Given the description of an element on the screen output the (x, y) to click on. 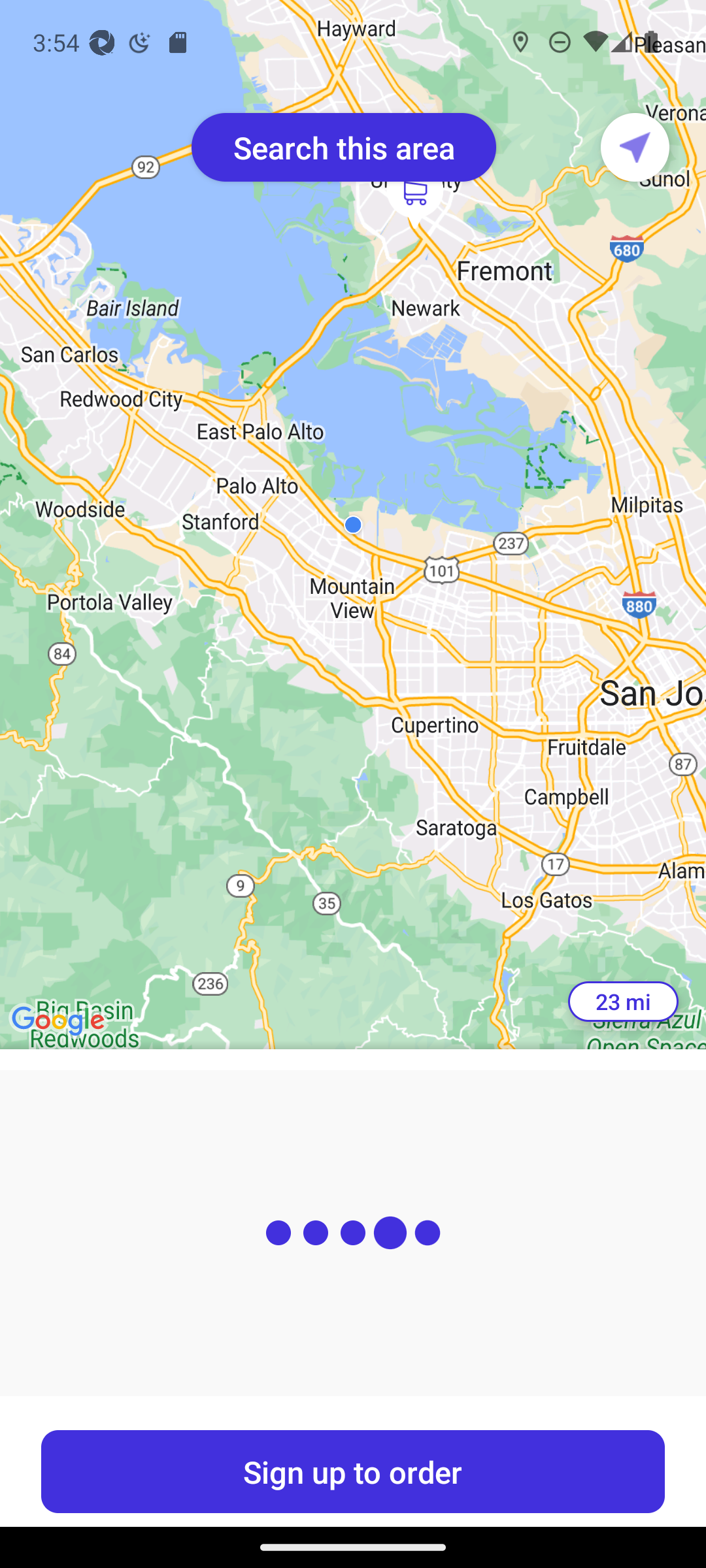
Search this area (343, 146)
My location (634, 146)
23 mi (623, 1001)
Sign up to order (352, 1471)
